Given the description of an element on the screen output the (x, y) to click on. 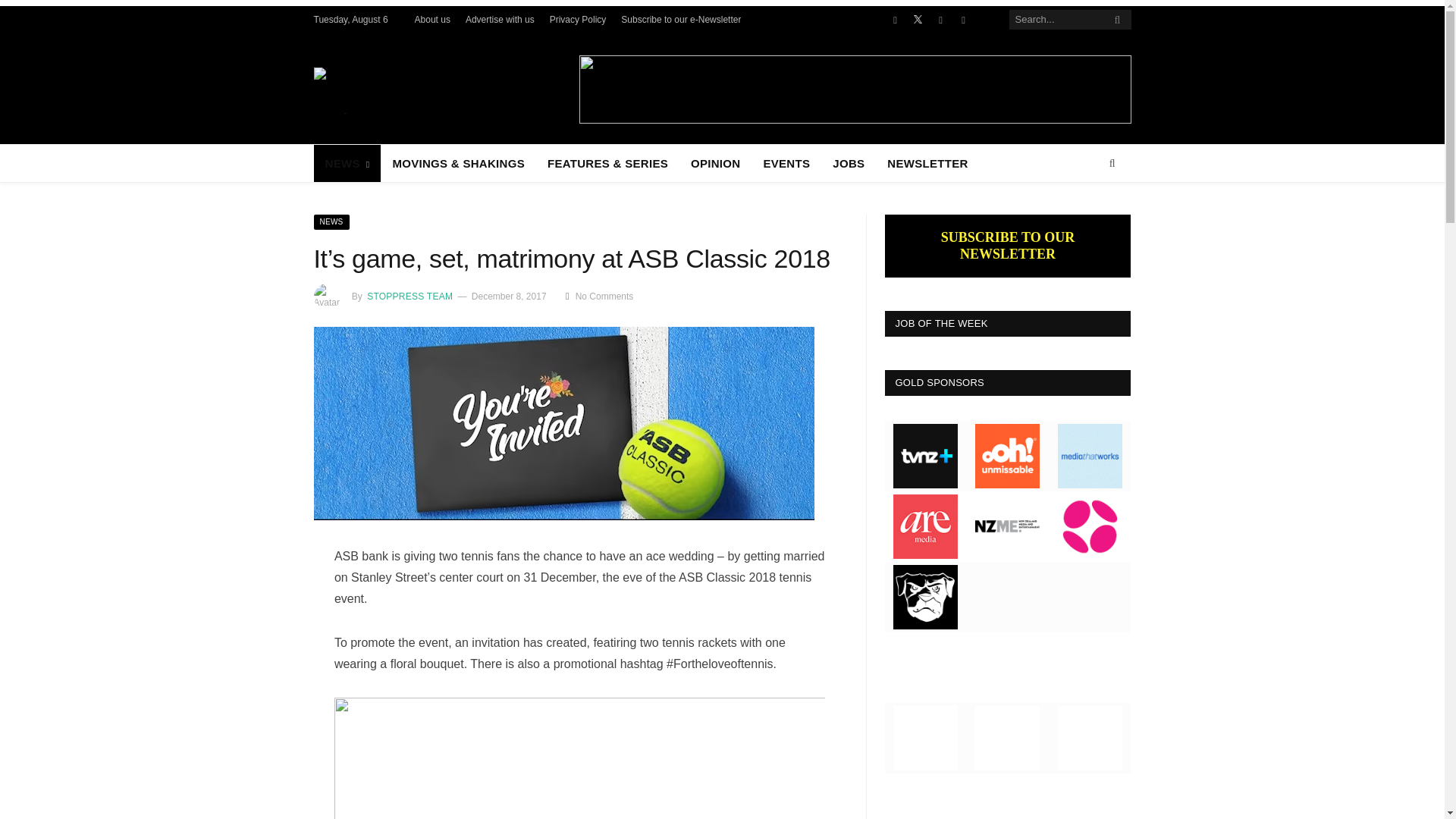
NEWS (331, 221)
STOPPRESS TEAM (408, 296)
X (917, 19)
Subscribe to our e-Newsletter (681, 19)
EVENTS (786, 162)
Privacy Policy (578, 19)
LinkedIn (963, 20)
LinkedIn (963, 20)
X (917, 19)
Facebook (894, 20)
About us (431, 19)
Search (1112, 163)
Advertise with us (499, 19)
JOBS (848, 162)
News (331, 221)
